Given the description of an element on the screen output the (x, y) to click on. 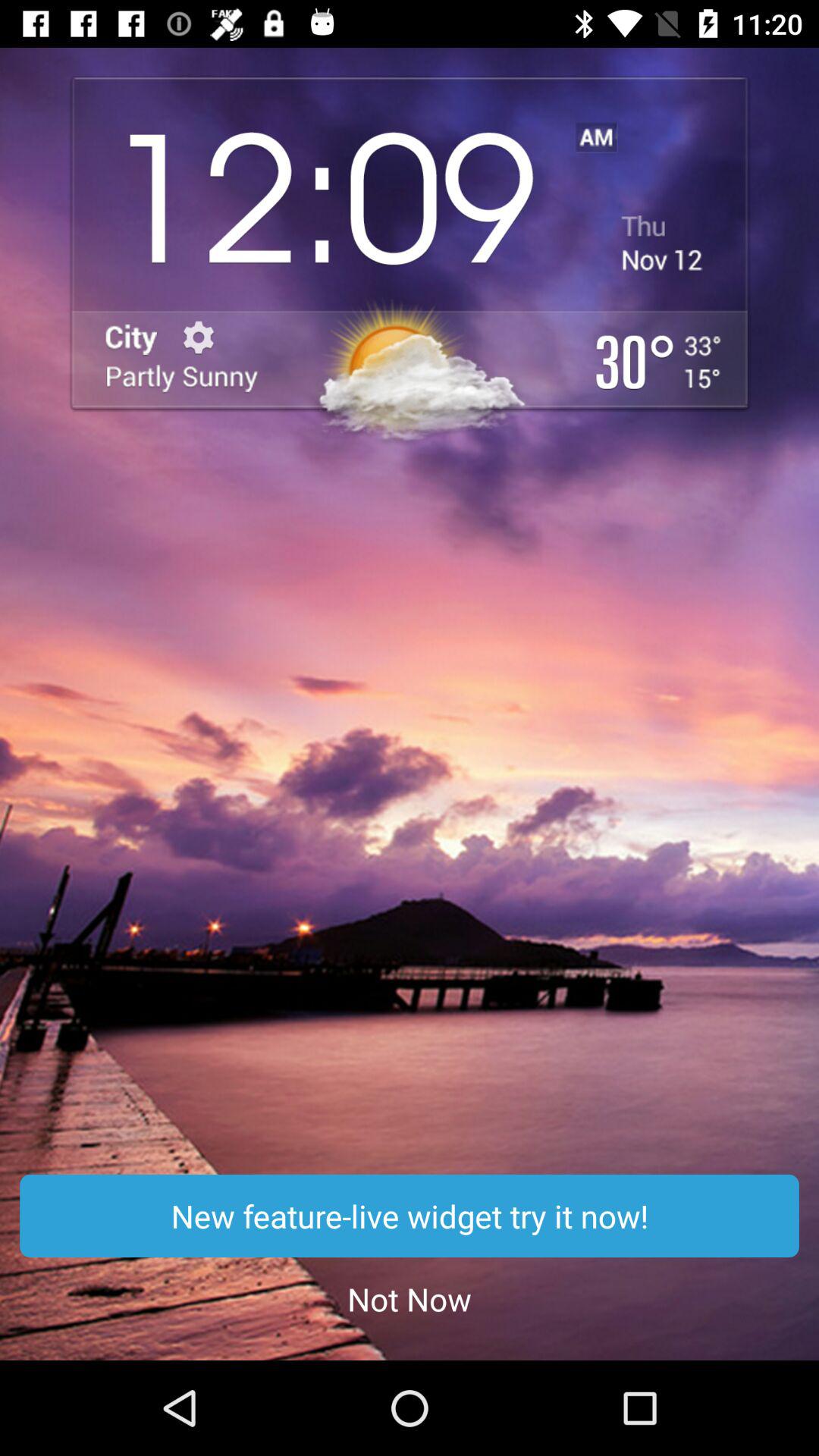
jump to the not now (409, 1298)
